Given the description of an element on the screen output the (x, y) to click on. 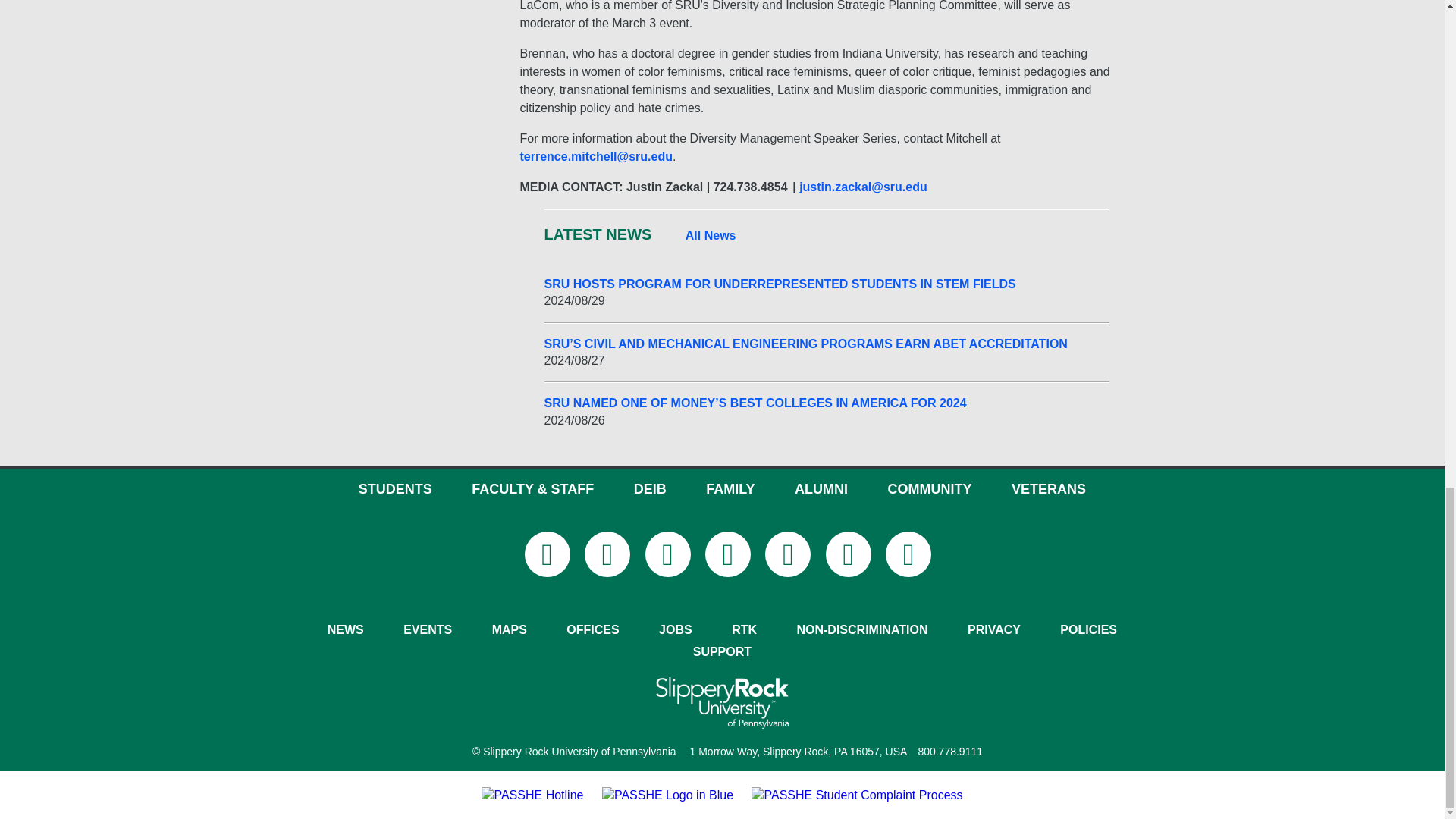
All News (710, 235)
COMMUNITY (928, 488)
VETERANS (1048, 488)
DEIB (649, 488)
ALUMNI (820, 488)
FAMILY (730, 488)
STUDENTS (395, 488)
